Given the description of an element on the screen output the (x, y) to click on. 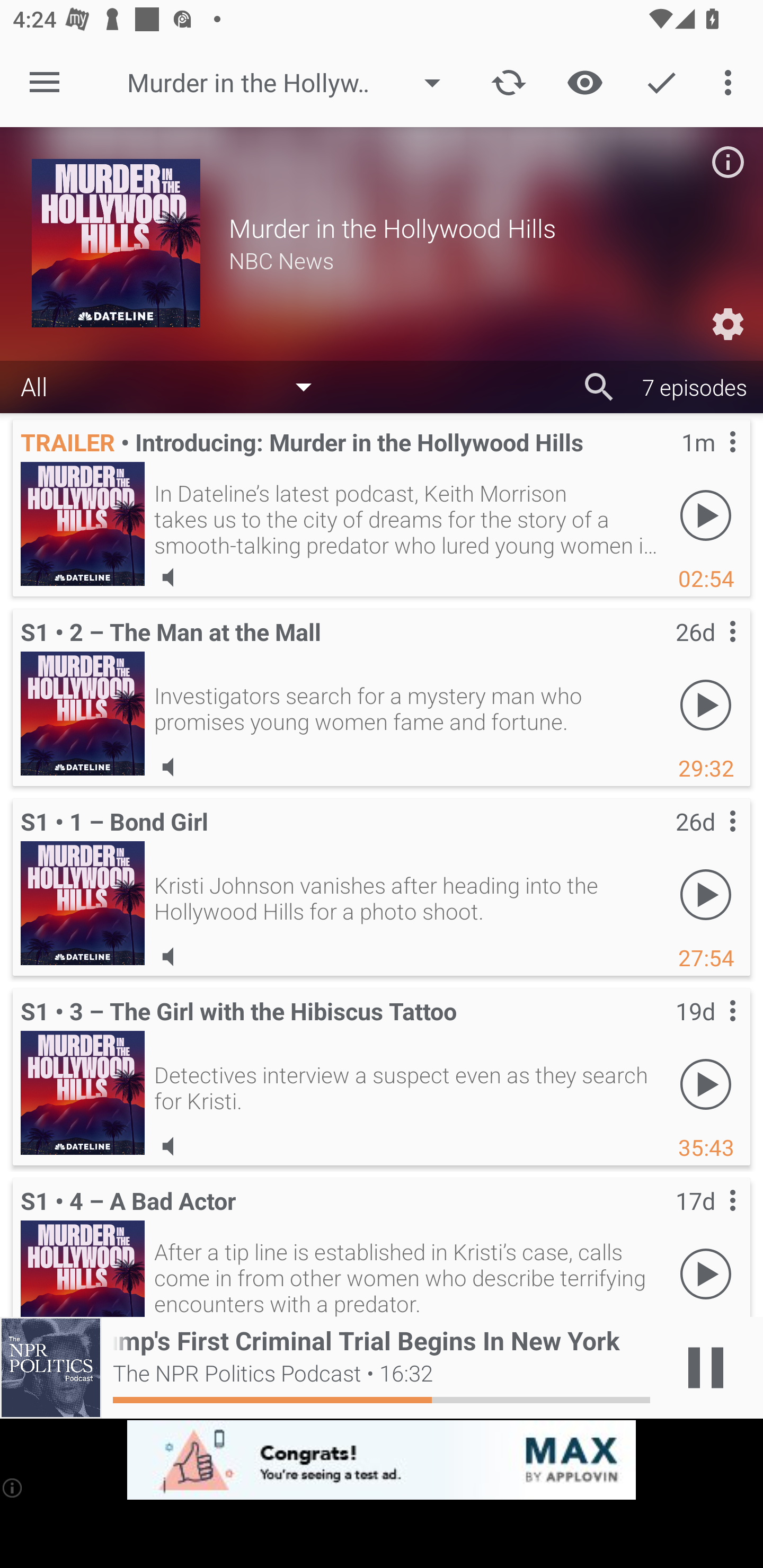
Open navigation sidebar (44, 82)
Update (508, 81)
Show / Hide played content (585, 81)
Action Mode (661, 81)
More options (731, 81)
Murder in the Hollywood Hills (292, 82)
Podcast description (727, 162)
NBC News (479, 259)
Custom Settings (727, 323)
Search (598, 386)
All (174, 386)
Contextual menu (712, 460)
Introducing: Murder in the Hollywood Hills (82, 524)
Play (705, 514)
Contextual menu (712, 649)
2 – The Man at the Mall (82, 714)
Play (705, 704)
Contextual menu (712, 838)
1 – Bond Girl (82, 902)
Play (705, 894)
Contextual menu (712, 1028)
3 – The Girl with the Hibiscus Tattoo (82, 1092)
Play (705, 1083)
Contextual menu (712, 1217)
4 – A Bad Actor (82, 1268)
Play (705, 1273)
Play / Pause (705, 1367)
app-monetization (381, 1459)
(i) (11, 1487)
